Given the description of an element on the screen output the (x, y) to click on. 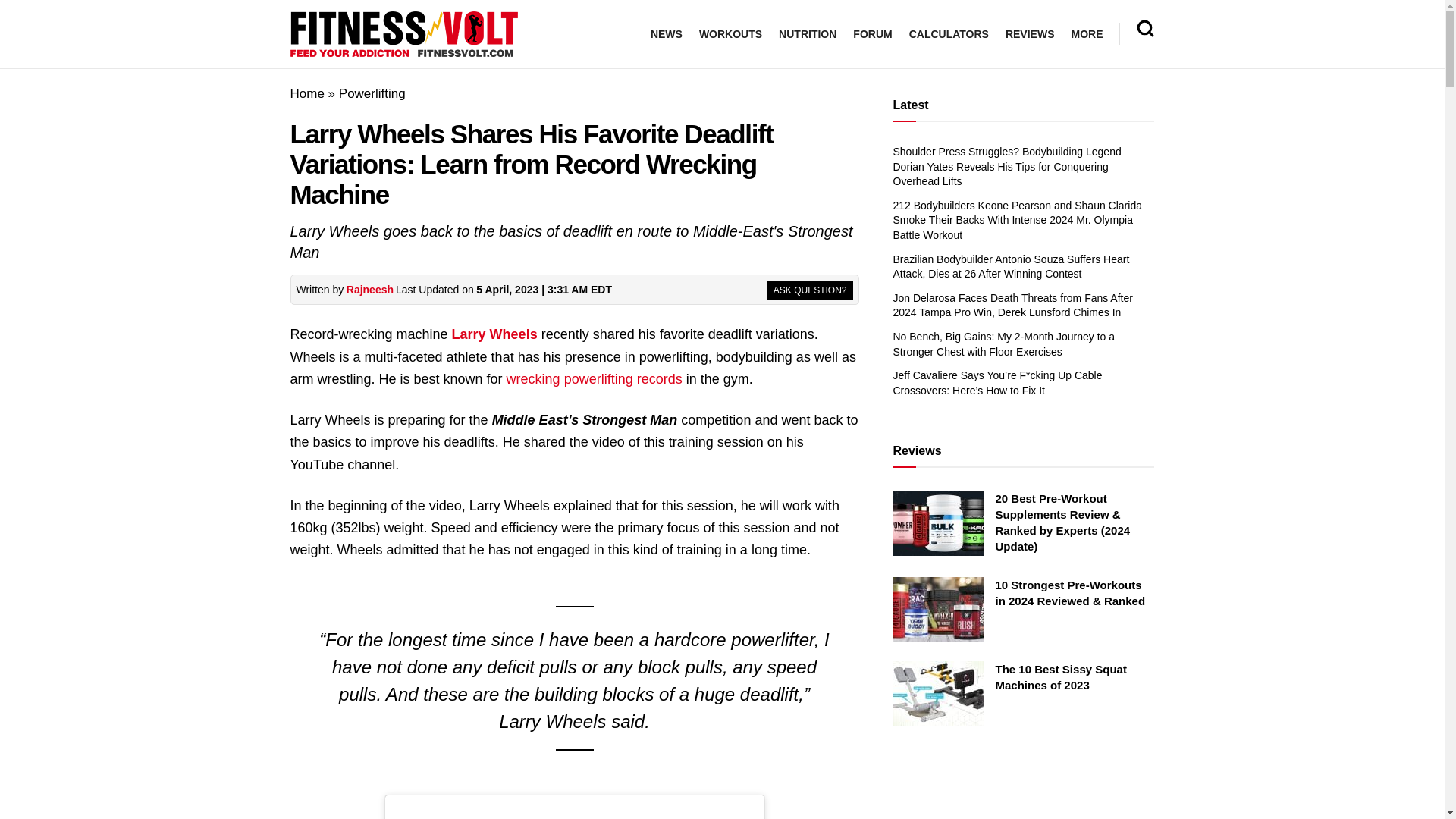
REVIEWS (1030, 34)
FORUM (872, 34)
CALCULATORS (948, 34)
MORE (1086, 34)
NUTRITION (806, 34)
WORKOUTS (729, 34)
NEWS (666, 34)
